Given the description of an element on the screen output the (x, y) to click on. 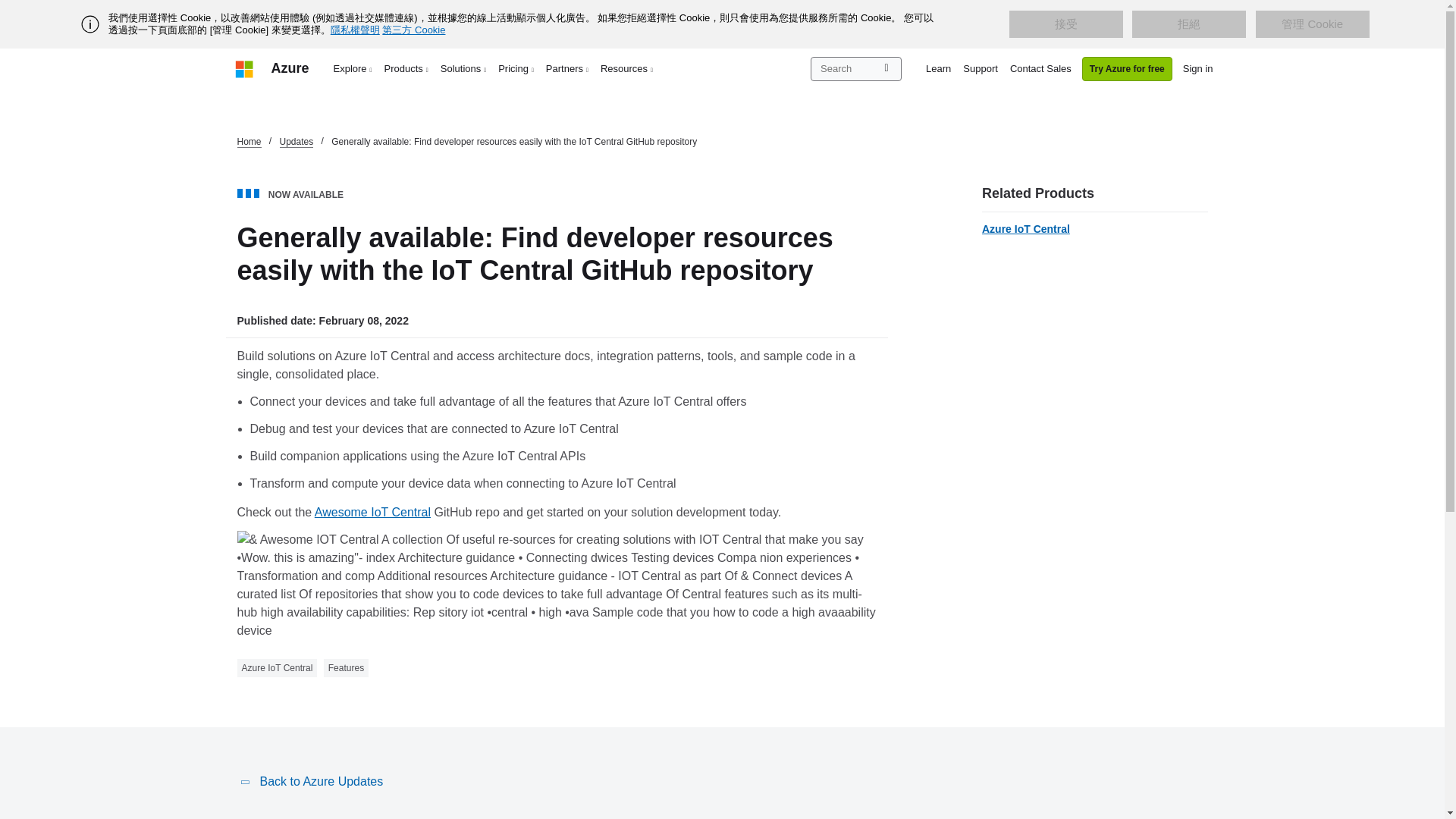
Explore (352, 68)
Products (405, 68)
Skip to main content (7, 7)
Azure (289, 68)
